Given the description of an element on the screen output the (x, y) to click on. 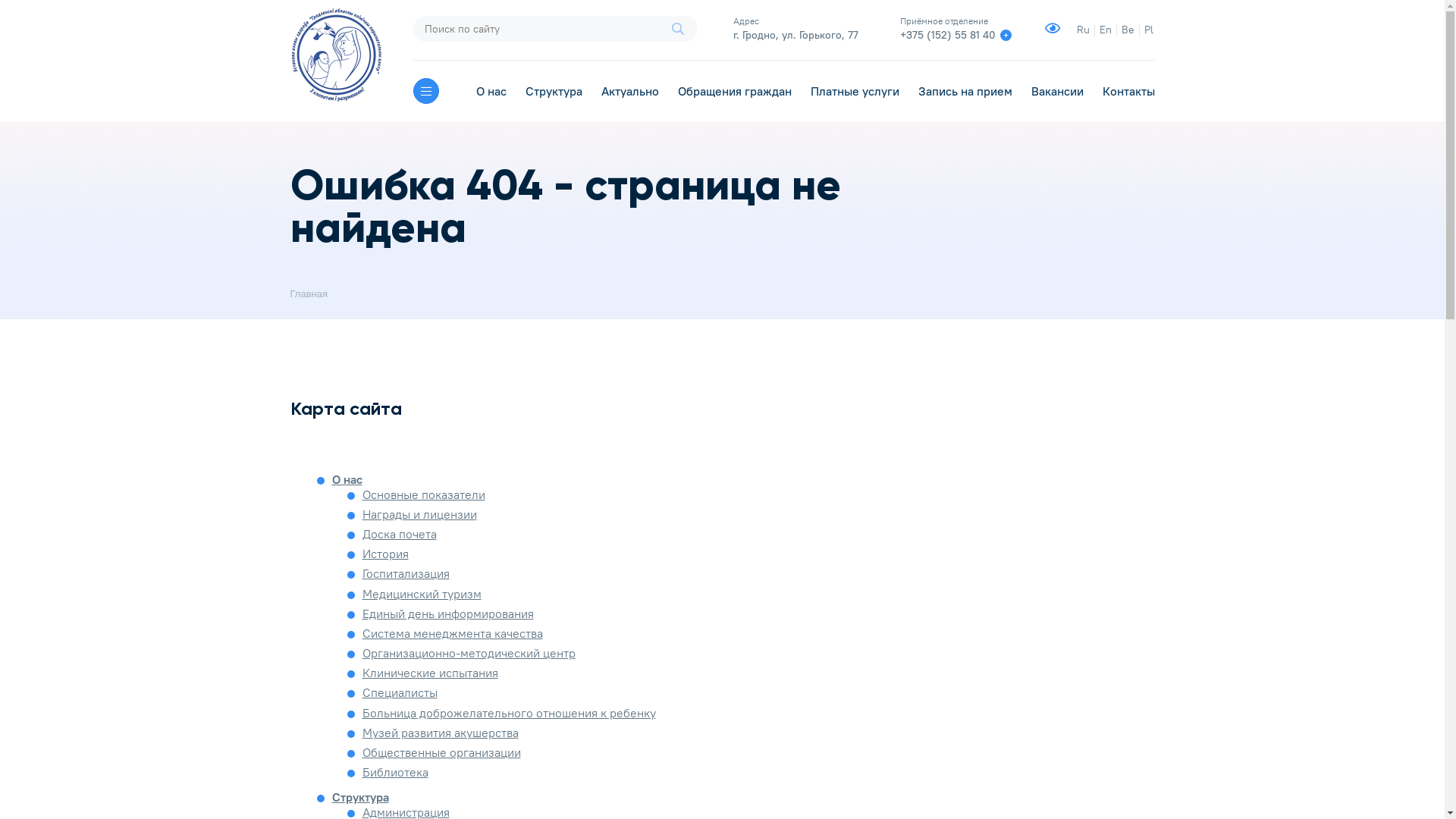
En Element type: text (1105, 29)
Ru Element type: text (1083, 29)
Pl Element type: text (1148, 29)
Be Element type: text (1127, 29)
+375 (152) 55 81 40 Element type: text (947, 34)
